Given the description of an element on the screen output the (x, y) to click on. 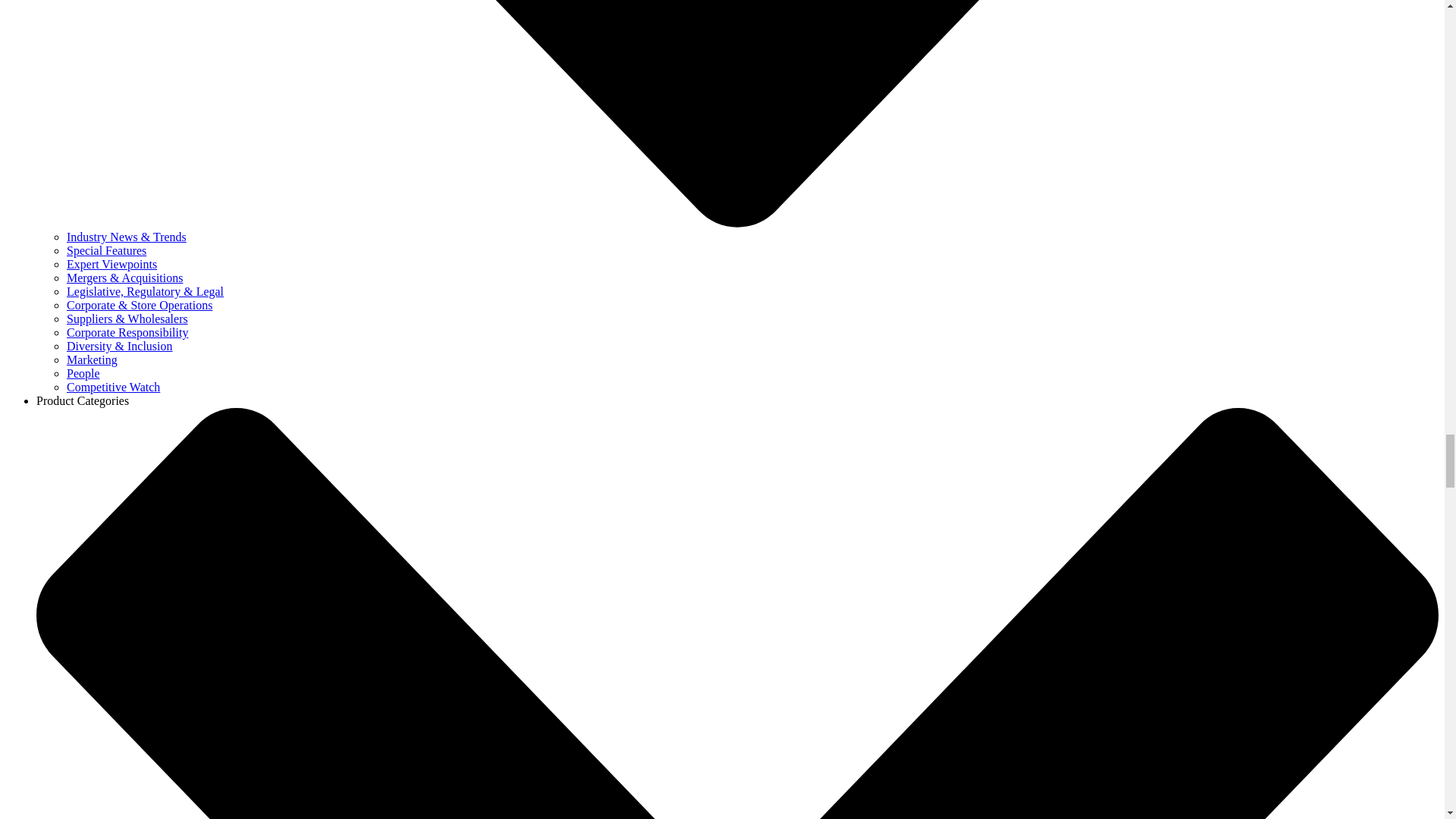
Corporate Responsibility (126, 332)
People (83, 373)
Special Features (106, 250)
Product Categories (82, 400)
Marketing (91, 359)
Expert Viewpoints (111, 264)
Competitive Watch (113, 386)
